Given the description of an element on the screen output the (x, y) to click on. 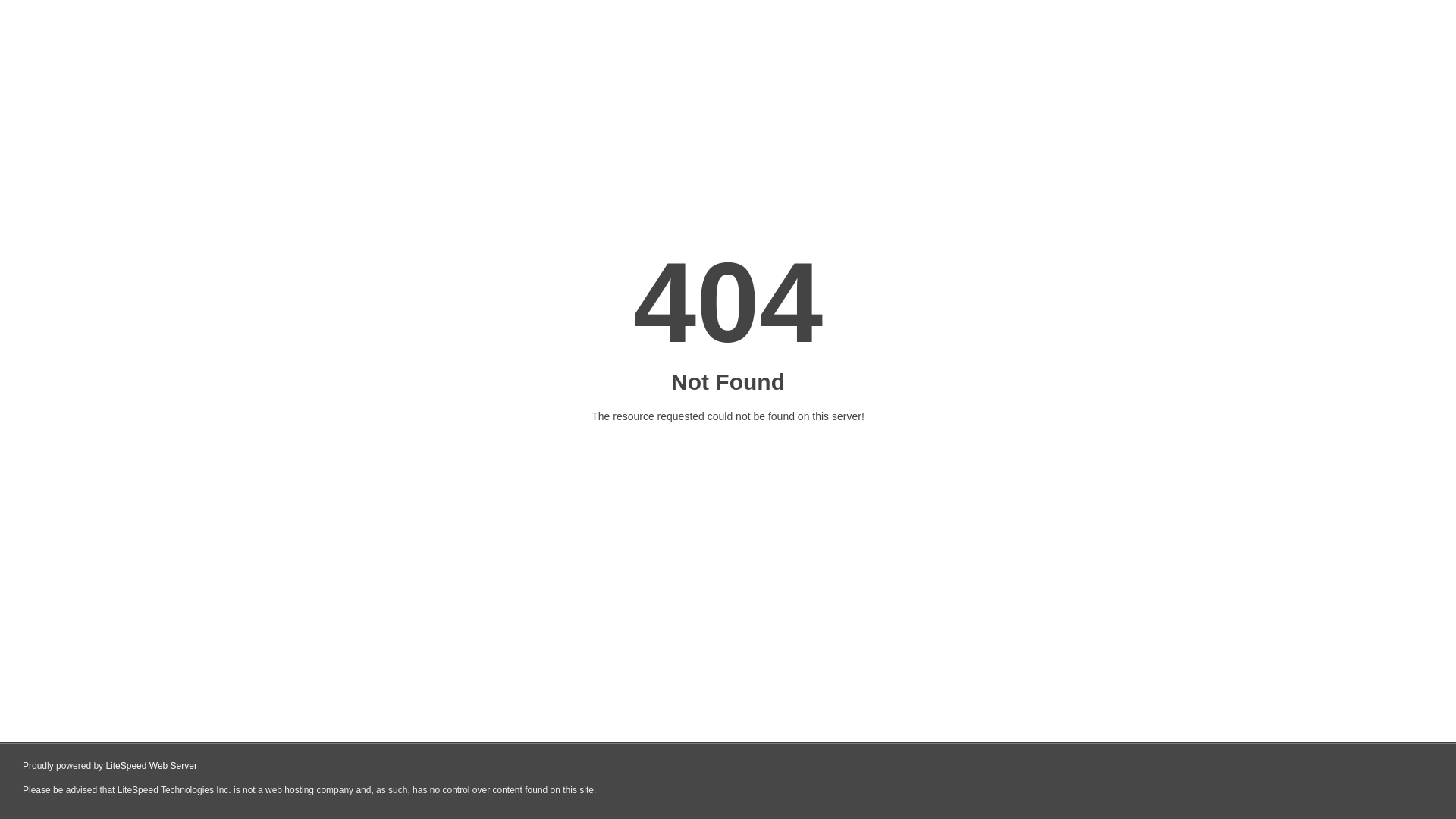
LiteSpeed Web Server Element type: text (151, 765)
